Given the description of an element on the screen output the (x, y) to click on. 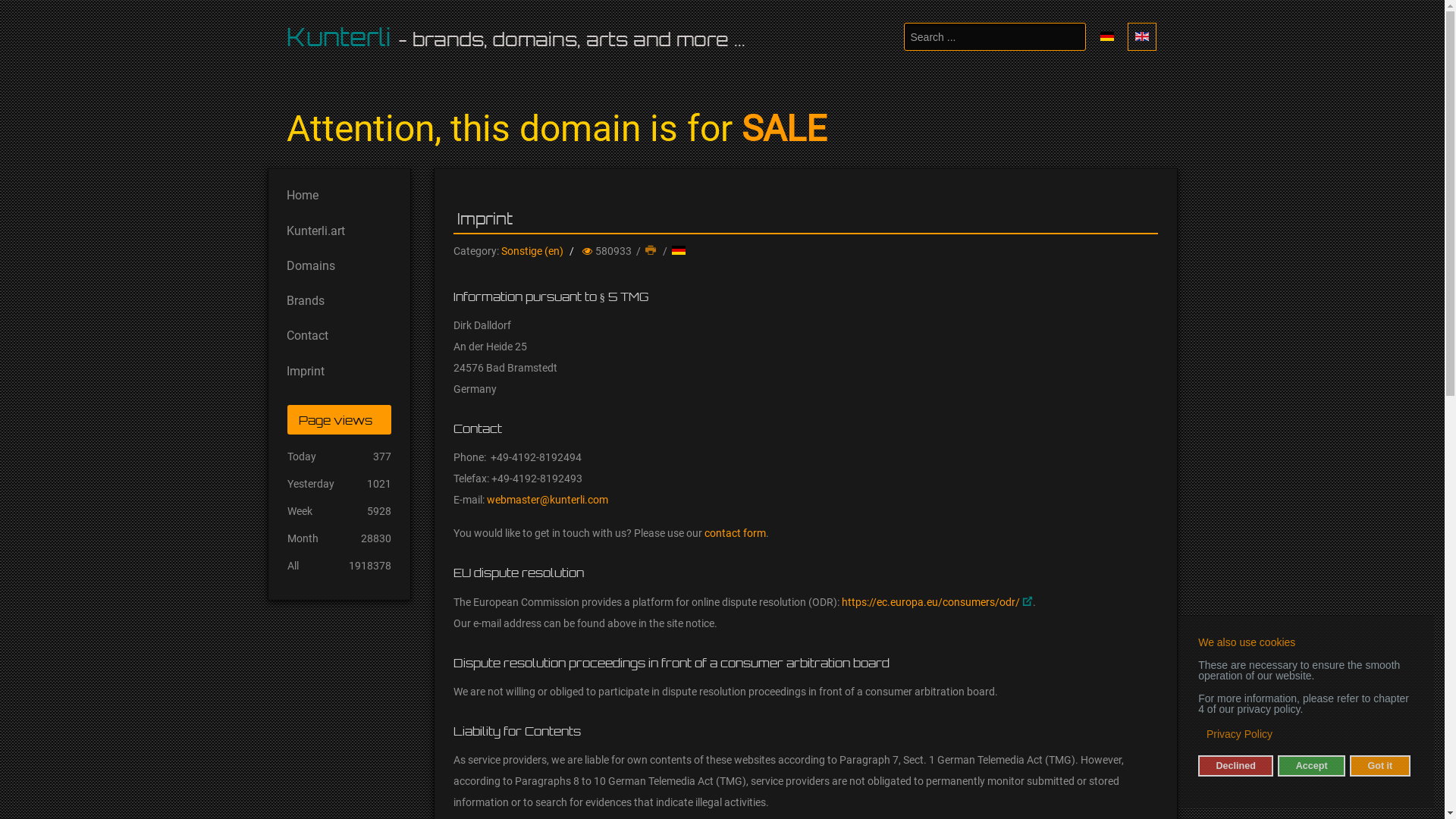
Privacy Policy Element type: text (1240, 733)
Imprint Element type: text (338, 368)
Print article < Imprint > Element type: hover (651, 250)
Deutsch (Deutschland) Element type: hover (678, 249)
Kunterli Element type: text (338, 36)
Brands Element type: text (338, 297)
Domains Element type: text (338, 262)
Sonstige (en) Element type: text (531, 250)
Got it Element type: text (1379, 765)
Deutsch (Deutschland) Element type: hover (1106, 35)
Contact Element type: text (338, 333)
contact form Element type: text (734, 533)
English (United Kingdom) Element type: hover (1141, 35)
Accept Element type: text (1310, 765)
Kunterli.art Element type: text (338, 227)
https://ec.europa.eu/consumers/odr/ Element type: text (936, 602)
Declined Element type: text (1235, 765)
Home Element type: text (338, 192)
